Given the description of an element on the screen output the (x, y) to click on. 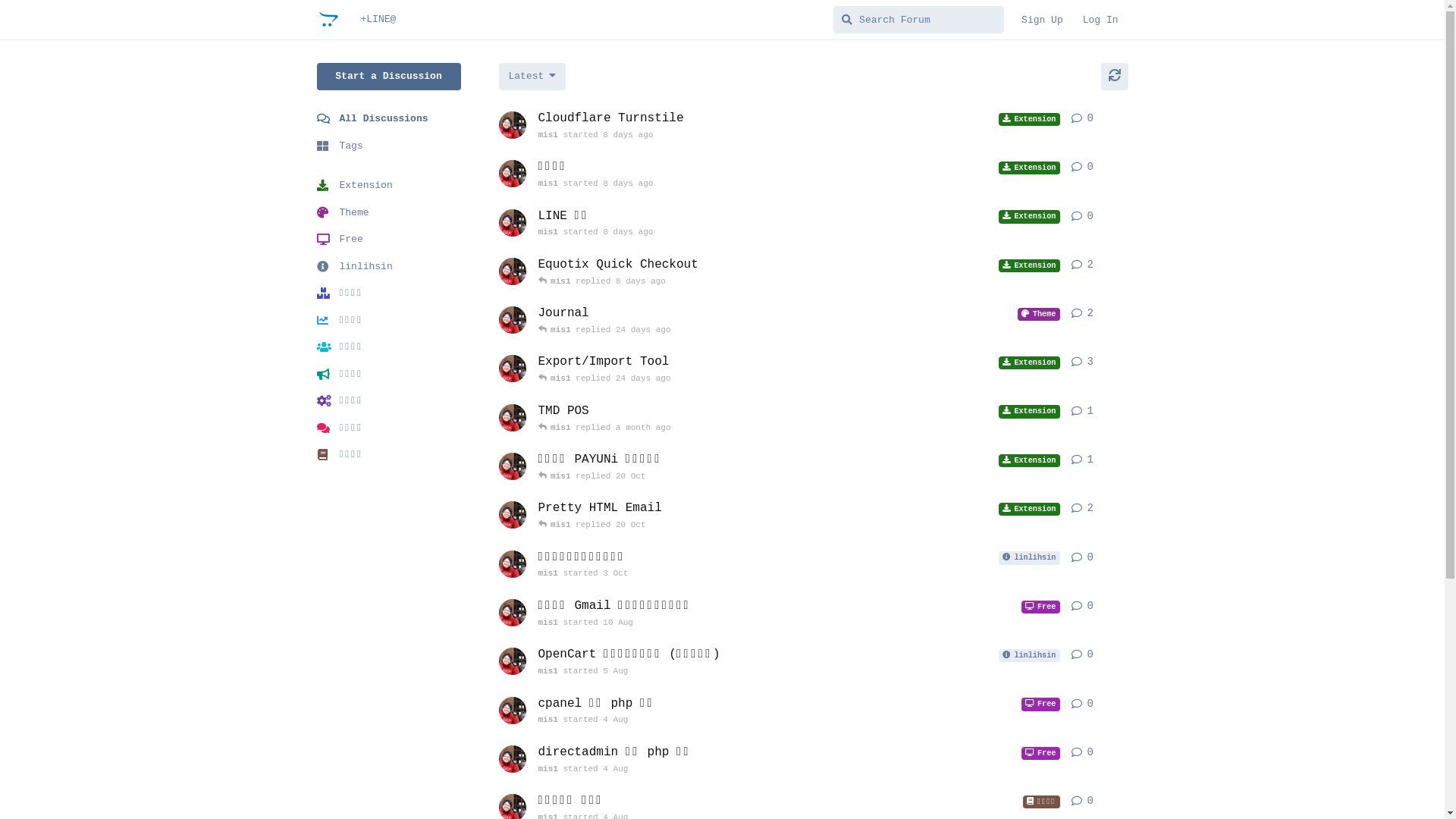
Cloudflare Turnstile
Extension
mis1 started 8 days ago Element type: text (799, 125)
TMD POS
Extension
mis1 replied a month ago Element type: text (799, 418)
Free Element type: text (388, 239)
Log In Element type: text (1100, 19)
Extension Element type: text (388, 185)
Theme Element type: text (388, 211)
Pretty HTML Email
Extension
mis1 replied 20 Oct Element type: text (799, 515)
Tags Element type: text (388, 145)
Equotix Quick Checkout
Extension
mis1 replied 8 days ago Element type: text (799, 271)
All Discussions Element type: text (388, 118)
linlihsin Element type: text (388, 266)
Start a Discussion Element type: text (388, 76)
Sign Up Element type: text (1042, 19)
Export/Import Tool
Extension
mis1 replied 24 days ago Element type: text (799, 369)
Journal
Theme
mis1 replied 24 days ago Element type: text (799, 320)
+LINE@ Element type: text (377, 19)
Latest Element type: text (532, 76)
